Given the description of an element on the screen output the (x, y) to click on. 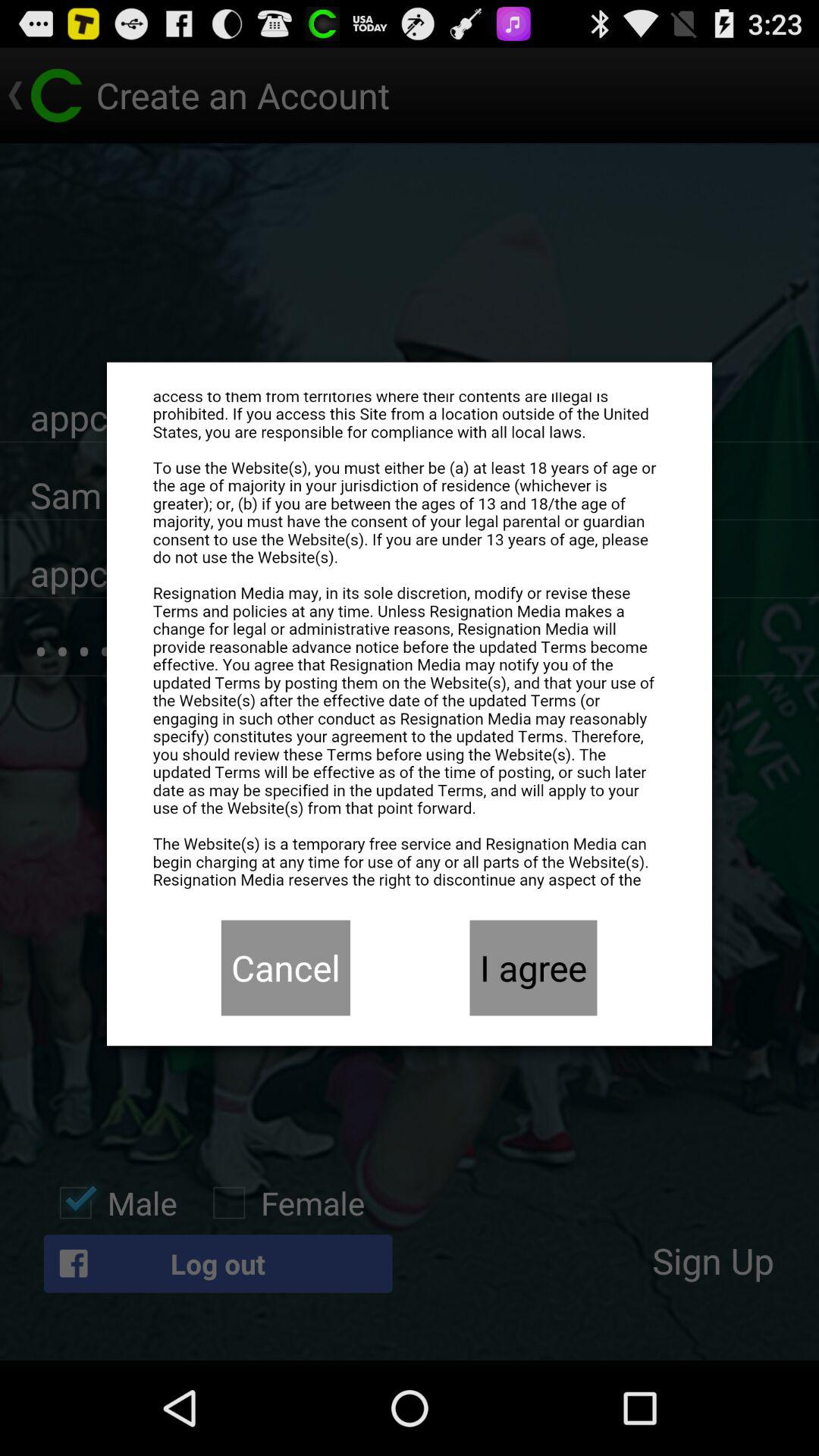
click on accept terms (409, 641)
